Given the description of an element on the screen output the (x, y) to click on. 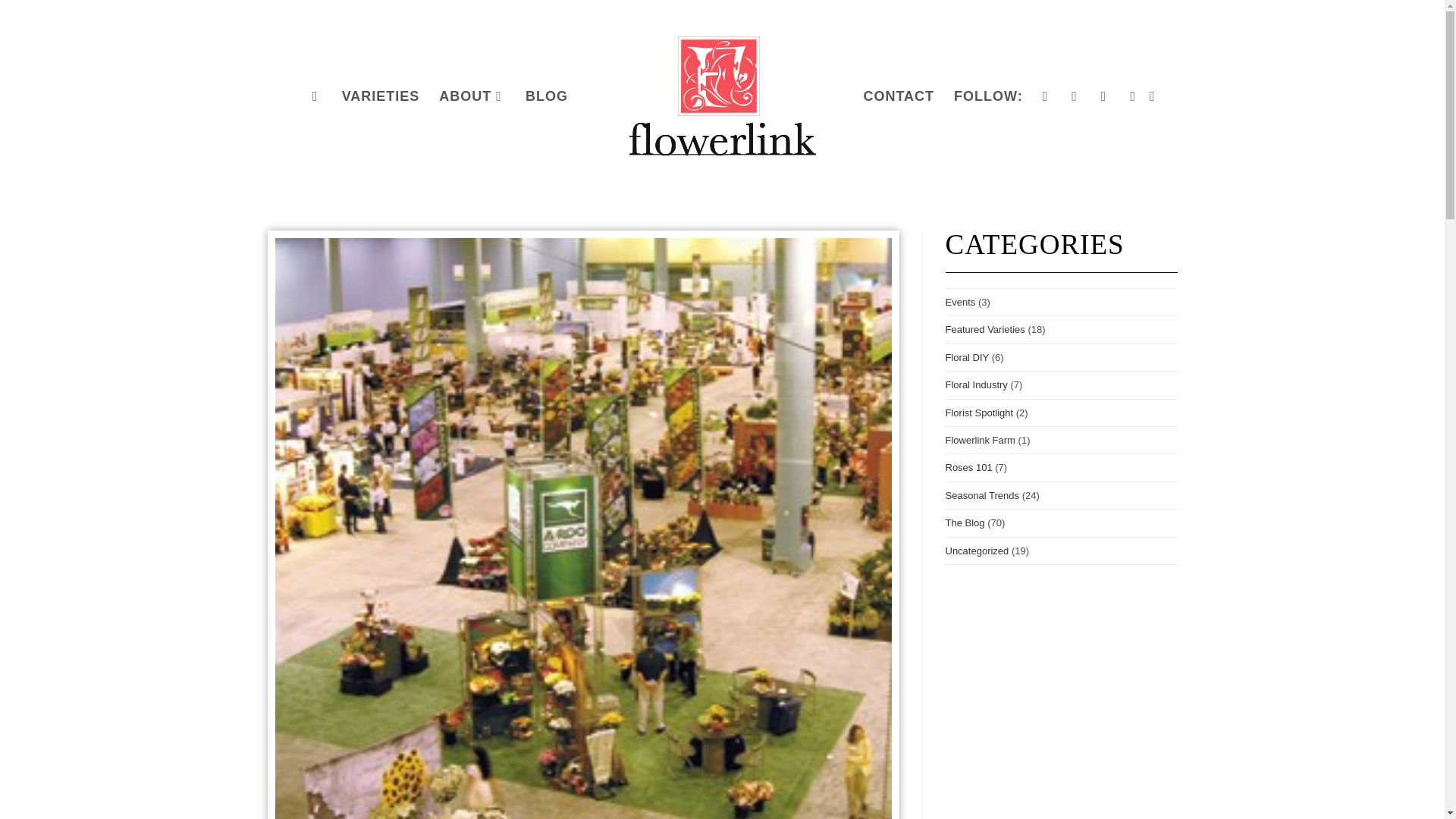
ABOUT (472, 95)
Flowerlink Home (316, 95)
FOLLOW: (987, 95)
Connect with Flowerlink on LinkedIn (1134, 95)
About Flowerlink (472, 95)
CONTACT (898, 95)
Follow Flowerlink on Facebook (1047, 95)
Floral Varieties (380, 95)
Follow Flowerlink on Social Media (987, 95)
Flowerlink Blog (546, 95)
BLOG (546, 95)
VARIETIES (380, 95)
Follow Flowerlink on Instagram (1075, 95)
Follow Flowerlink on Pinterest (1105, 95)
